Given the description of an element on the screen output the (x, y) to click on. 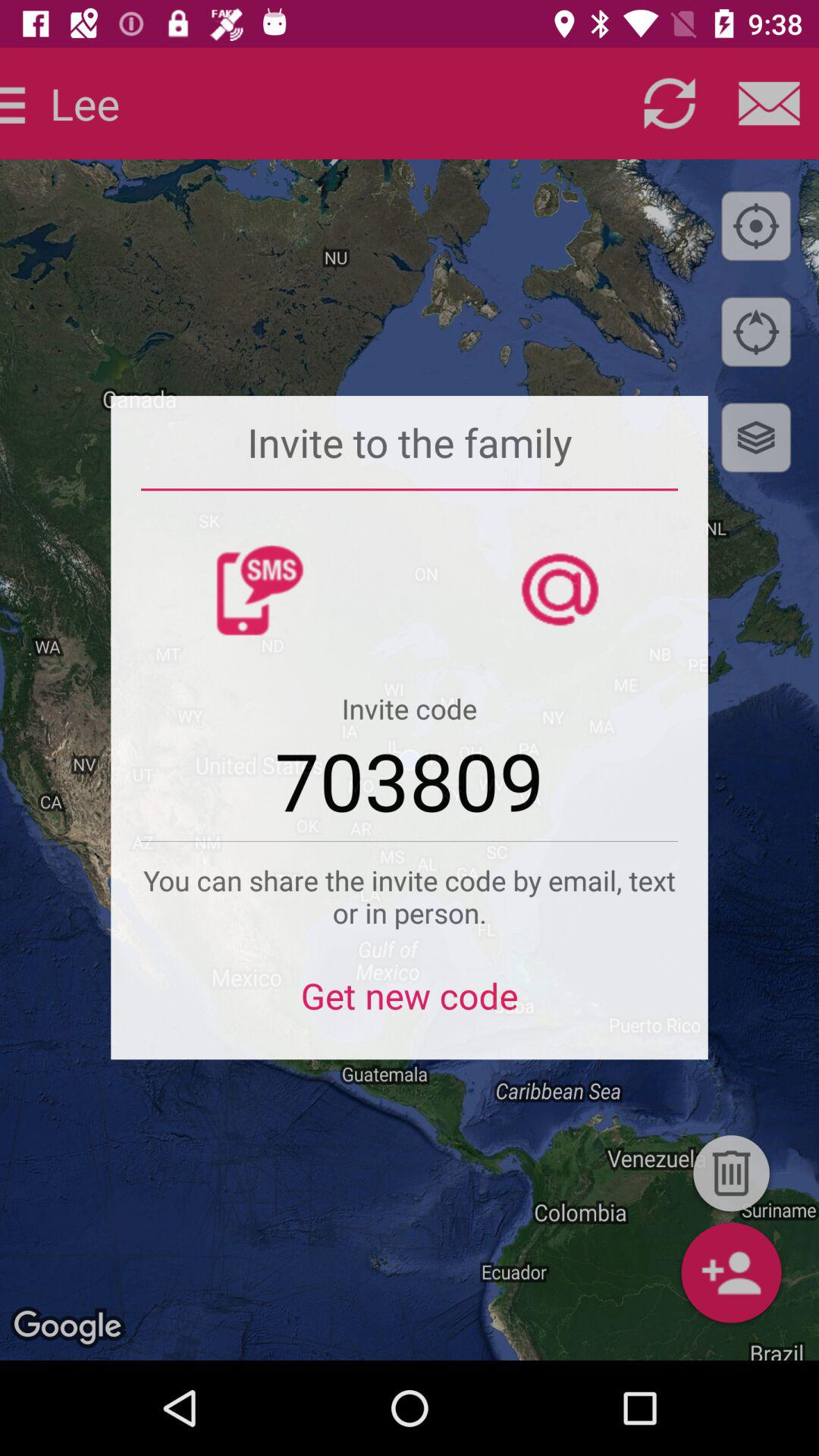
swipe to the get new code icon (409, 1005)
